Given the description of an element on the screen output the (x, y) to click on. 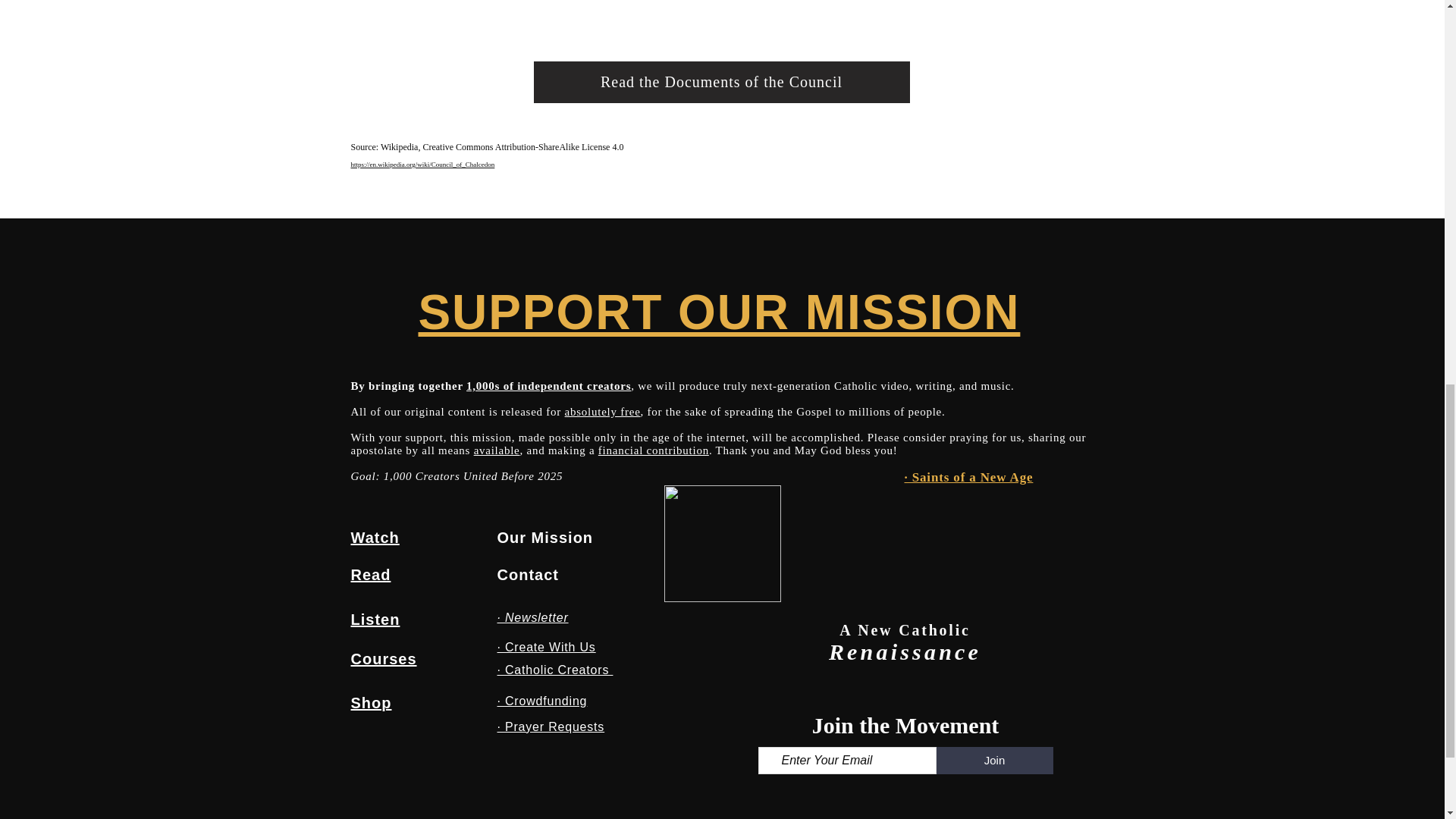
Listen (374, 619)
available (496, 450)
financial contribution (653, 450)
Our Mission (545, 537)
Join (994, 759)
A New Catholic (905, 629)
Courses (383, 658)
Watch (374, 537)
1,000s of independent creators (547, 386)
SUPPORT OUR MISSION (719, 312)
Contact (528, 574)
Shop (370, 702)
absolutely free (602, 411)
Read (370, 574)
Read the Documents of the Council (722, 82)
